Given the description of an element on the screen output the (x, y) to click on. 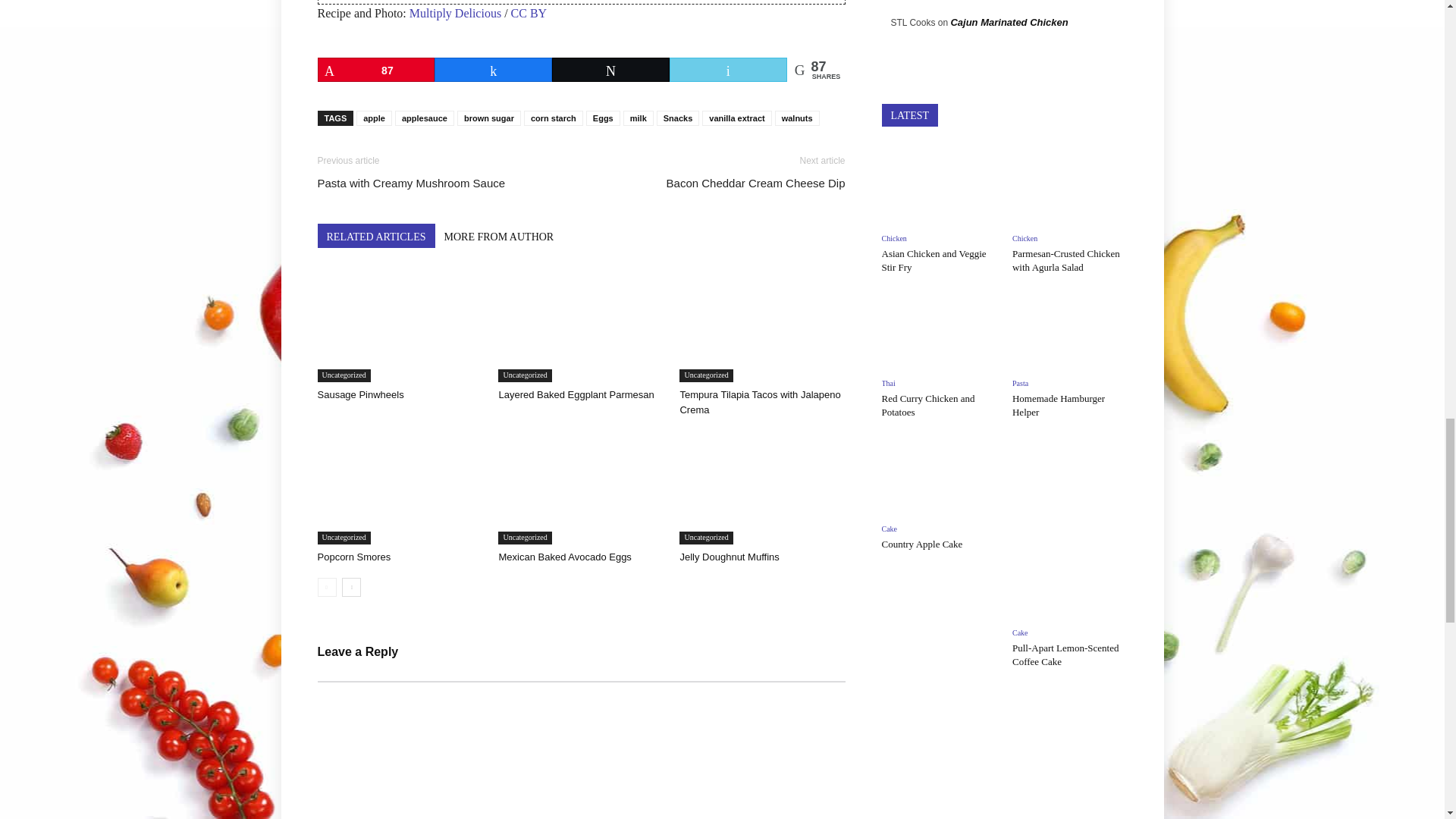
Sausage Pinwheels (360, 394)
Layered Baked Eggplant Parmesan (580, 325)
Sausage Pinwheels (399, 325)
